Given the description of an element on the screen output the (x, y) to click on. 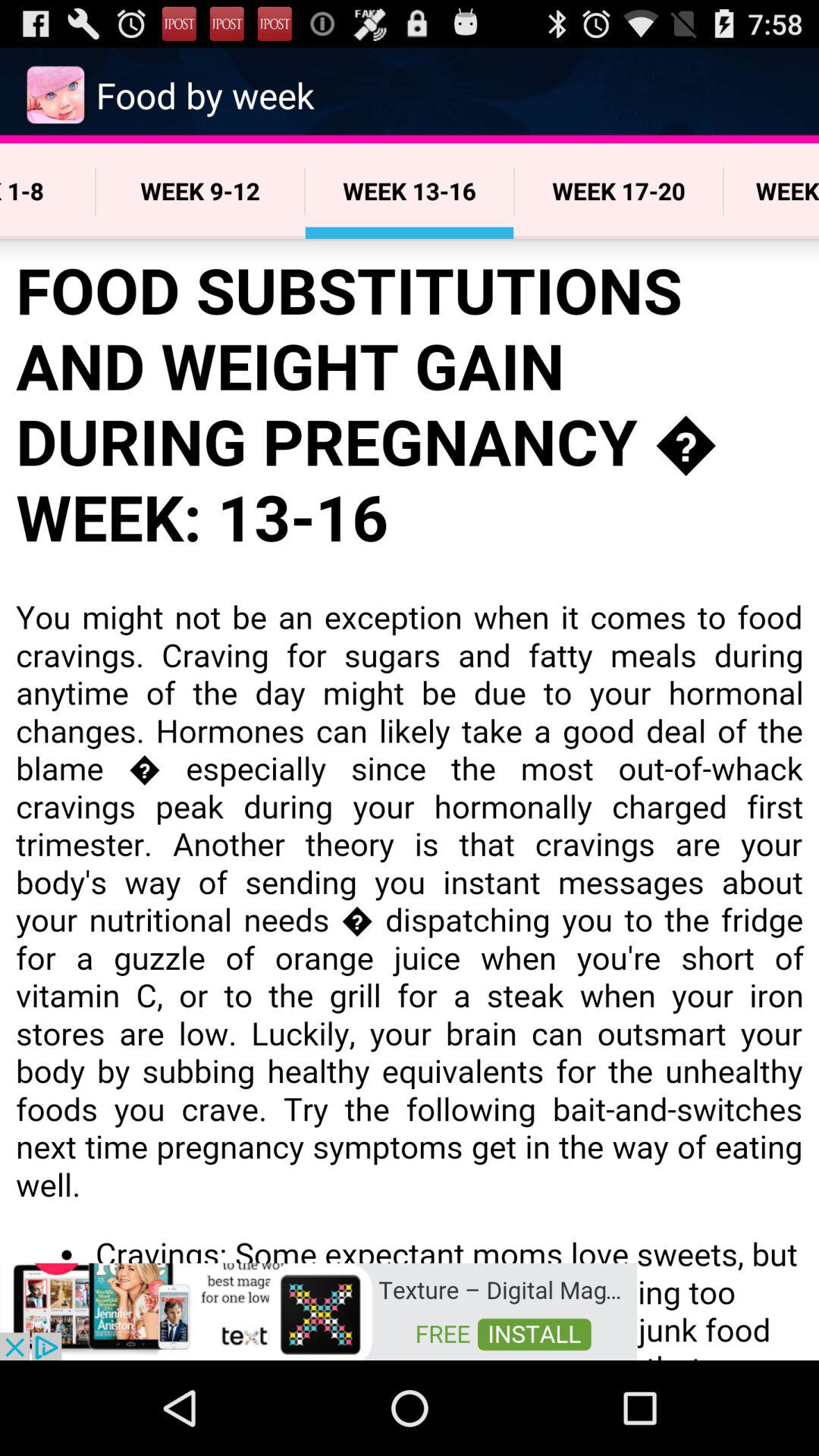
read full article (409, 799)
